Given the description of an element on the screen output the (x, y) to click on. 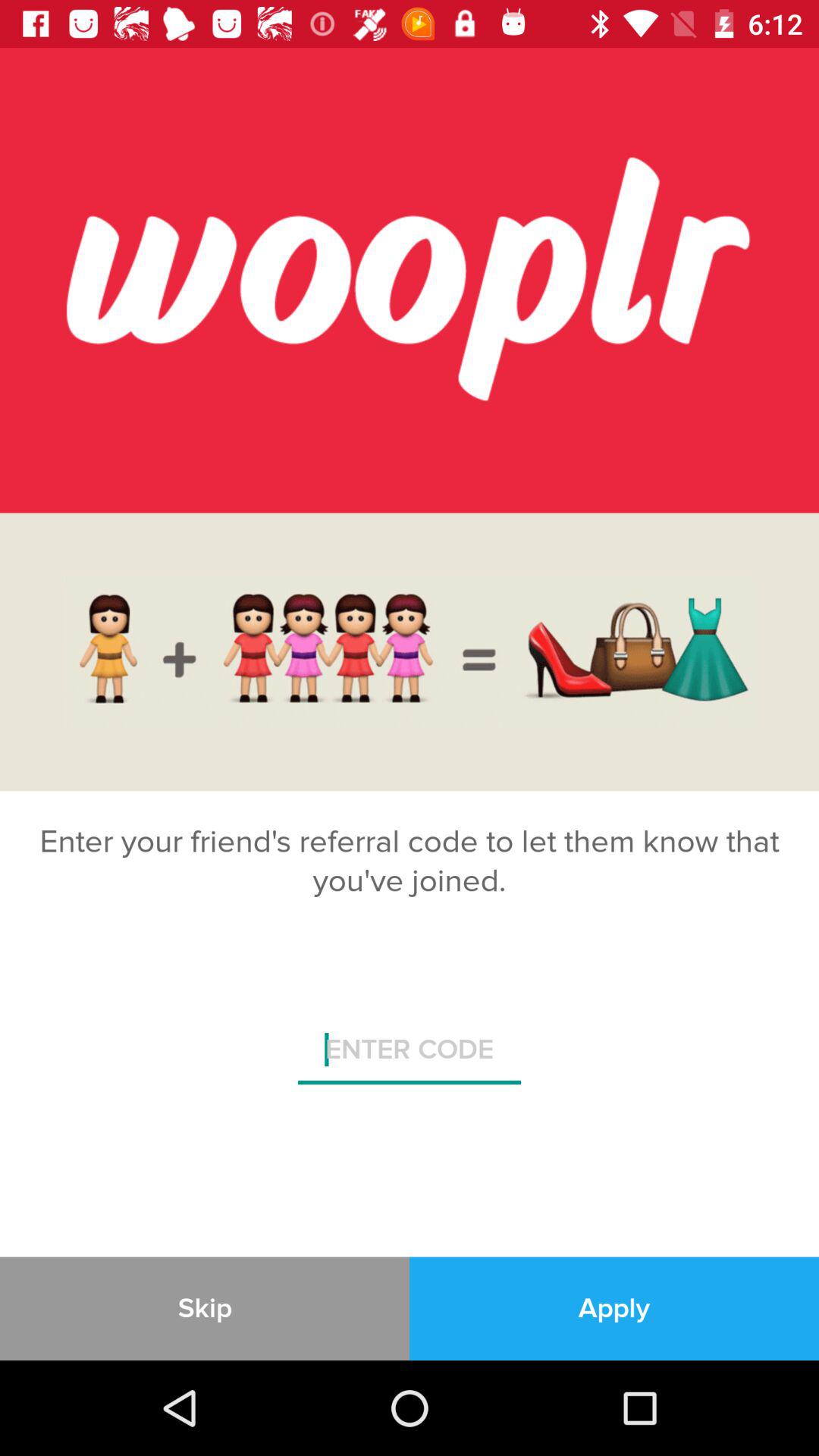
select apply (614, 1308)
